Given the description of an element on the screen output the (x, y) to click on. 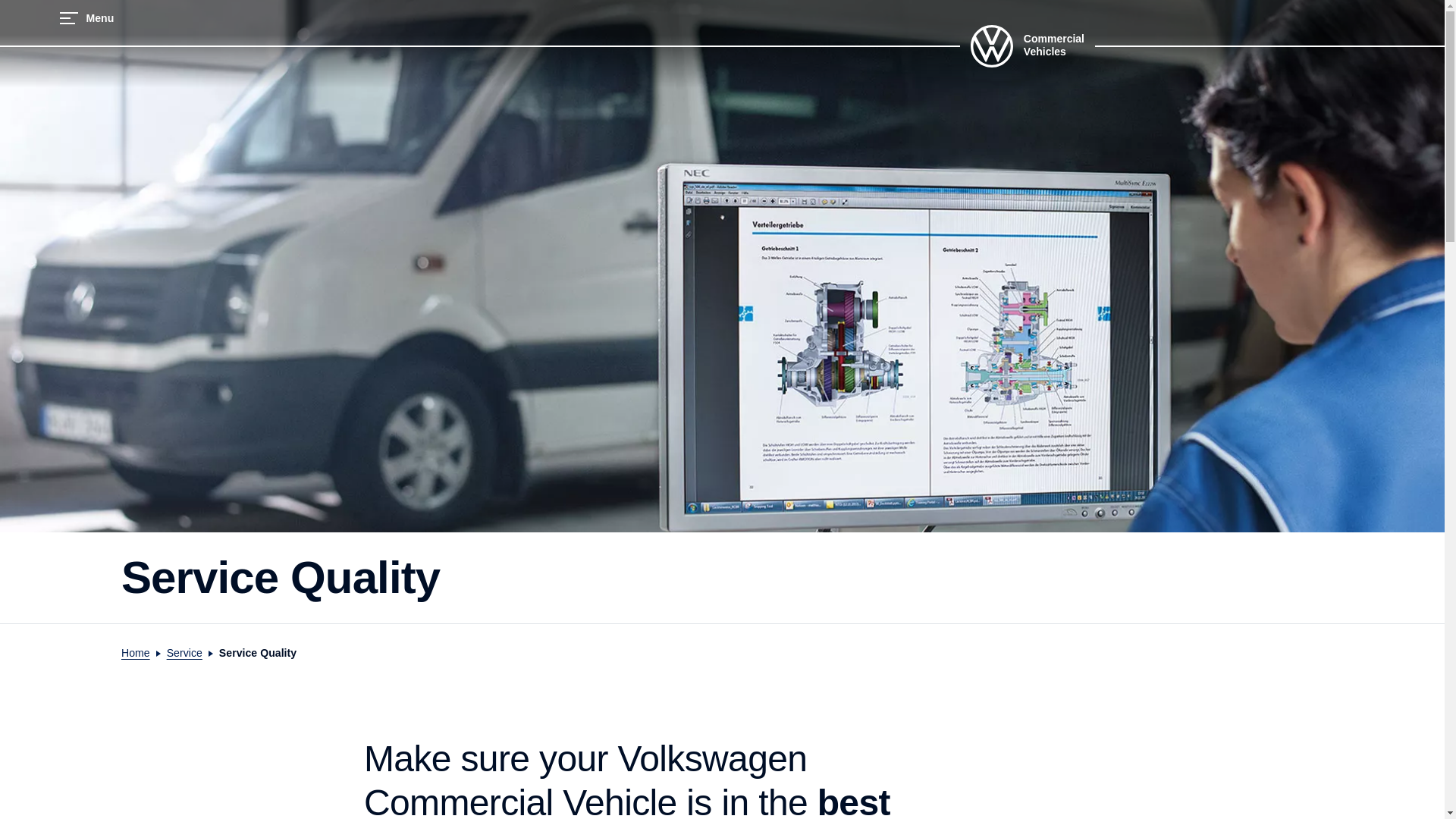
Menu (86, 18)
Service (184, 652)
Home (134, 652)
Volkswagen (992, 46)
Skip to footer (28, 121)
Volkswagen (992, 62)
Skip to main content (32, 121)
